Given the description of an element on the screen output the (x, y) to click on. 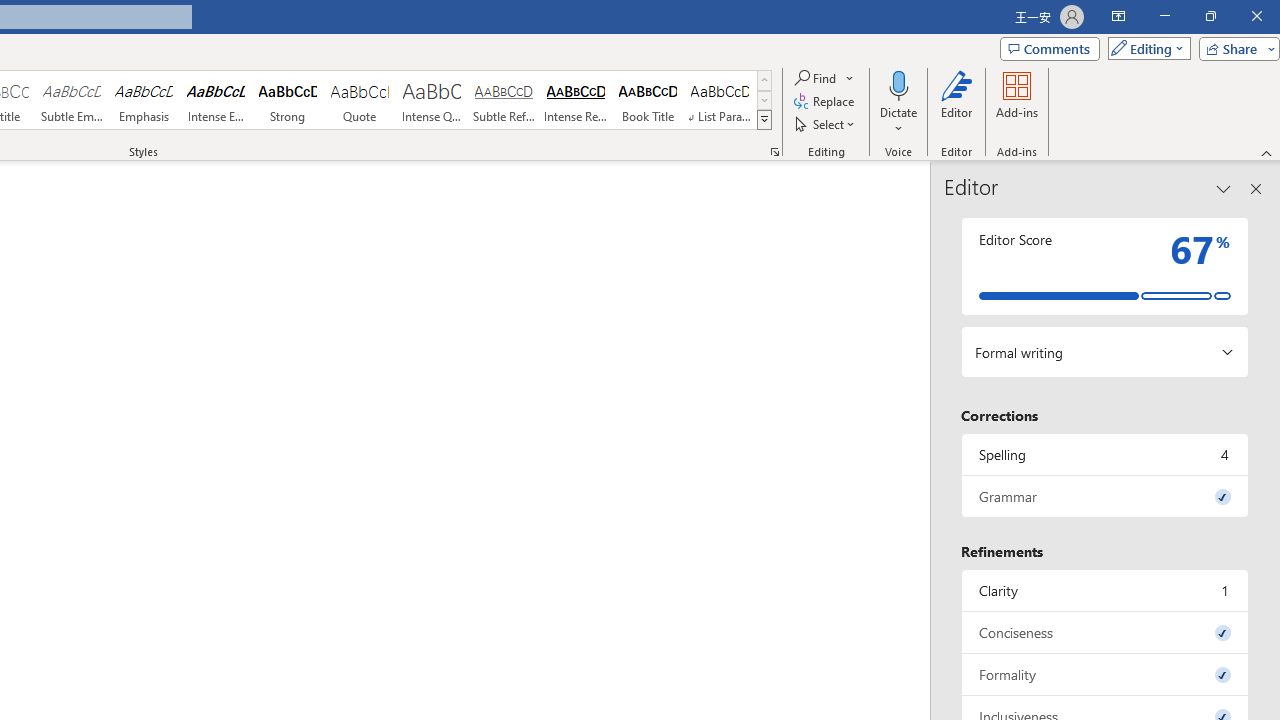
Quote (359, 100)
Editor Score 67% (1105, 266)
Book Title (647, 100)
Subtle Emphasis (71, 100)
Grammar, 0 issues. Press space or enter to review items. (1105, 495)
Subtle Reference (504, 100)
Strong (287, 100)
